Given the description of an element on the screen output the (x, y) to click on. 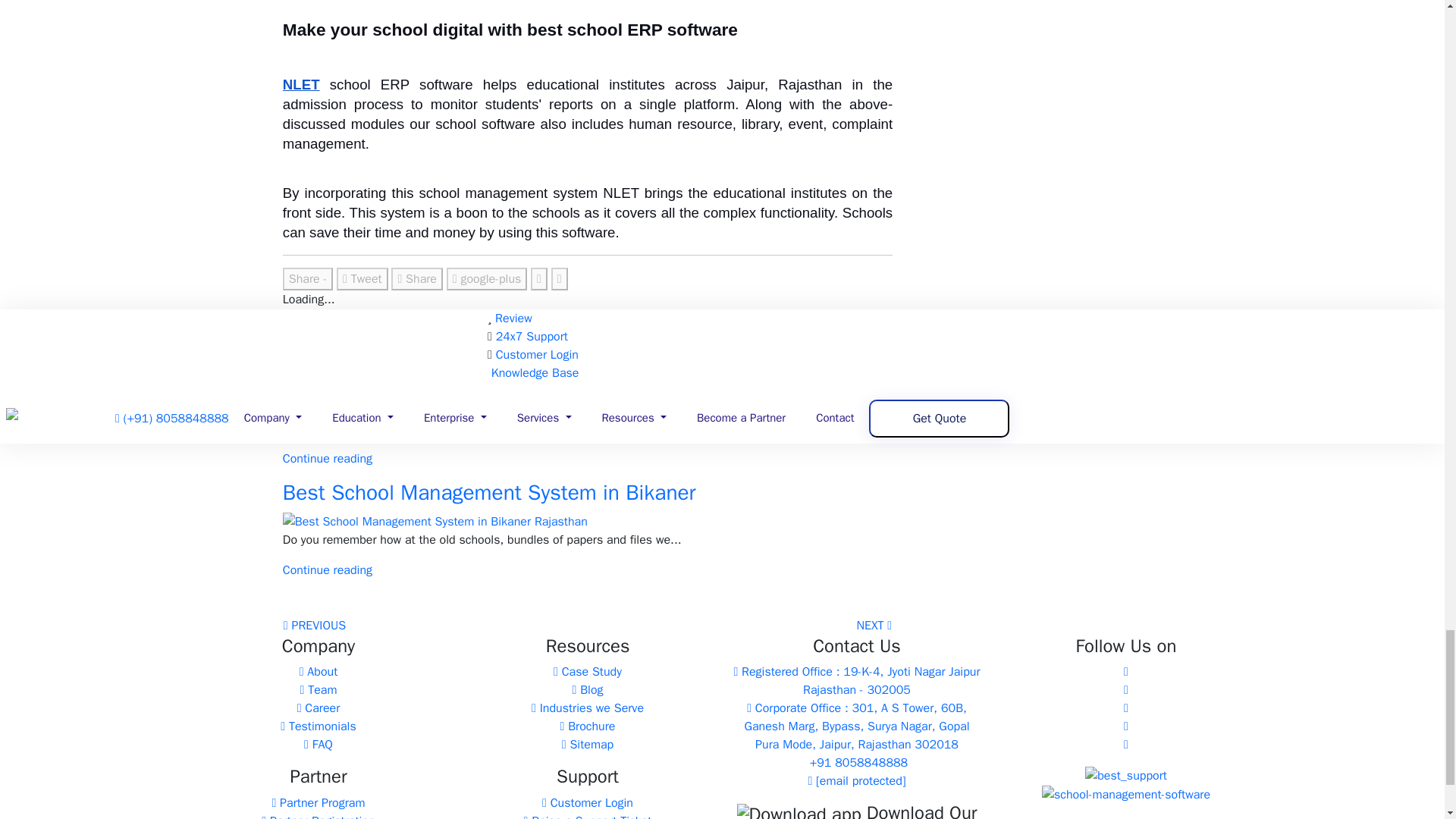
Best School Management System in Bikaner (488, 492)
Best School Management System in Bikaner (435, 520)
